Given the description of an element on the screen output the (x, y) to click on. 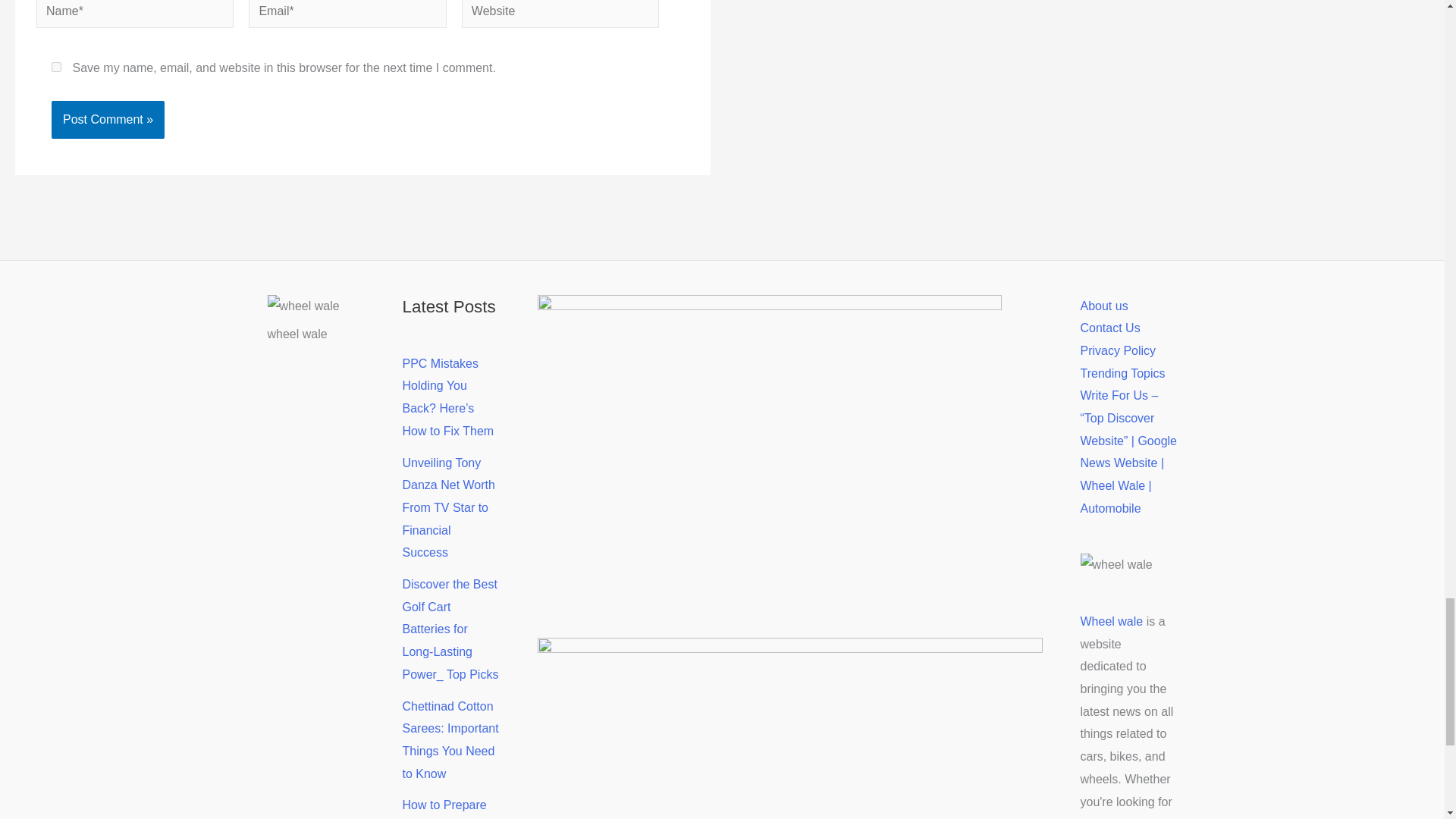
yes (55, 67)
